Given the description of an element on the screen output the (x, y) to click on. 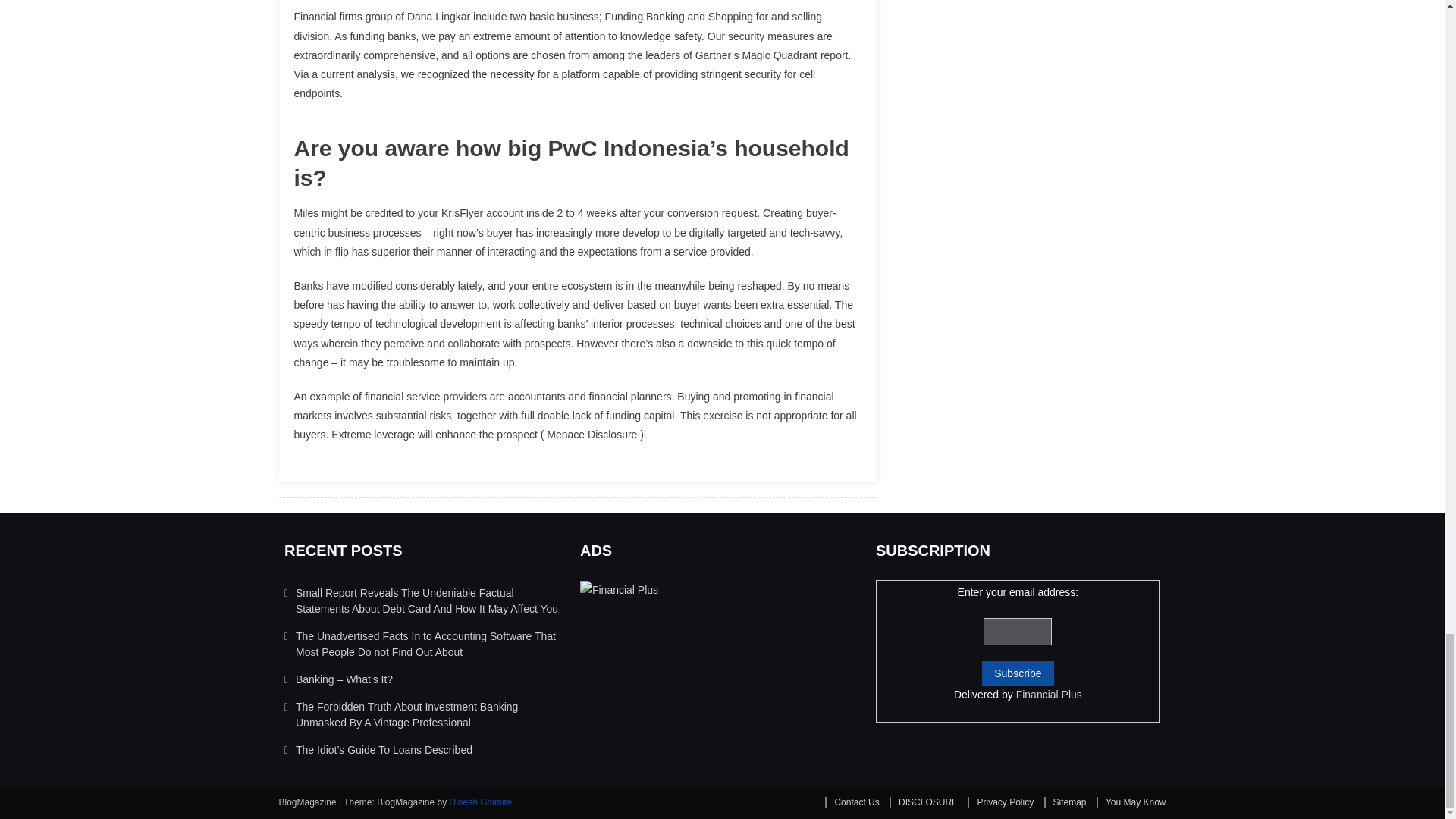
Subscribe (1016, 672)
